Given the description of an element on the screen output the (x, y) to click on. 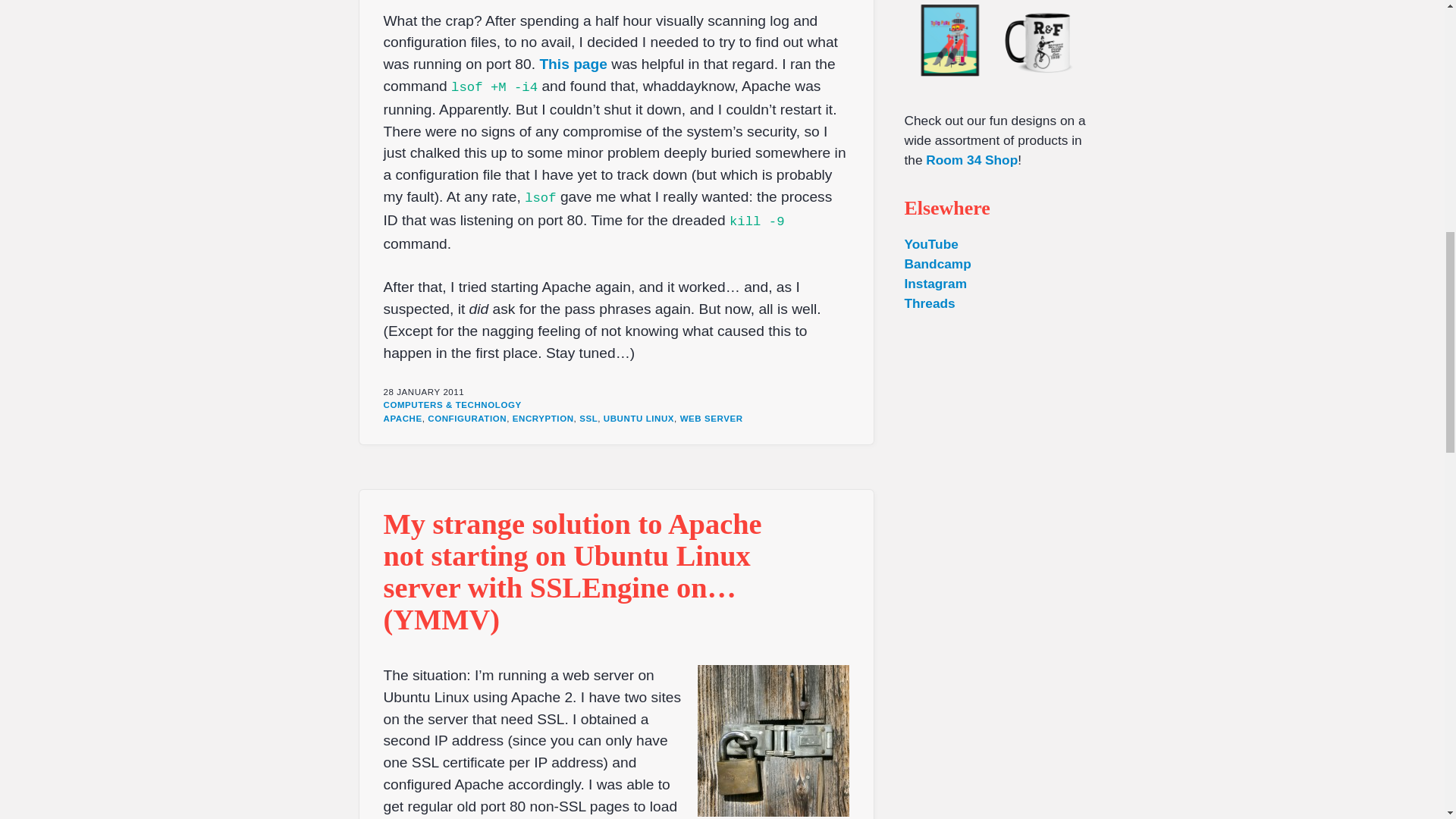
APACHE (403, 418)
CONFIGURATION (467, 418)
UBUNTU LINUX (639, 418)
ENCRYPTION (542, 418)
WEB SERVER (710, 418)
SSL (587, 418)
This page (572, 64)
